Given the description of an element on the screen output the (x, y) to click on. 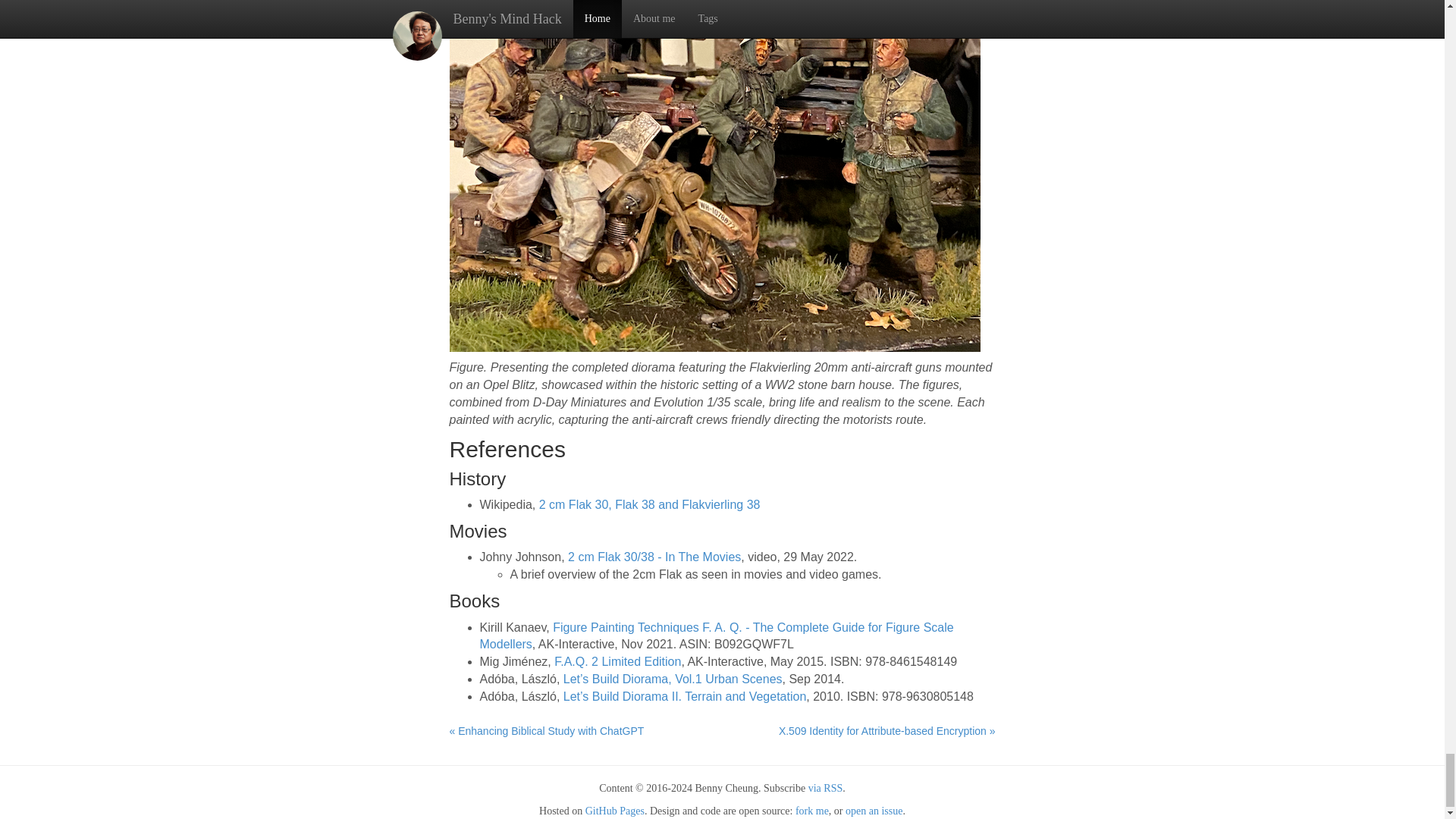
fork me (811, 810)
2 cm Flak 30, Flak 38 and Flakvierling 38 (649, 504)
F.A.Q. 2 Limited Edition (617, 661)
via RSS (825, 787)
GitHub Pages (615, 810)
open an issue (873, 810)
